Given the description of an element on the screen output the (x, y) to click on. 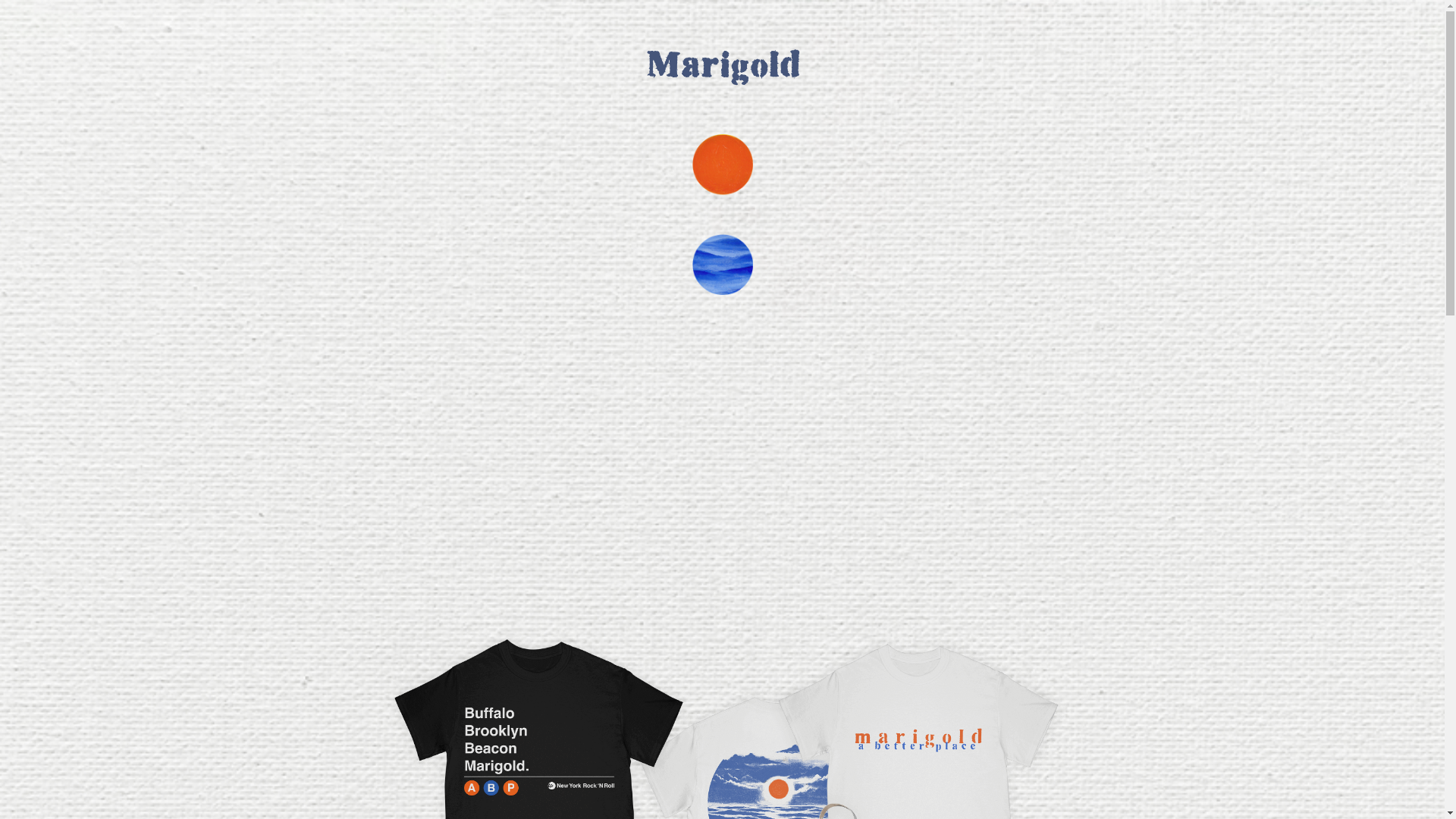
YouTube video player Element type: hover (721, 463)
